Given the description of an element on the screen output the (x, y) to click on. 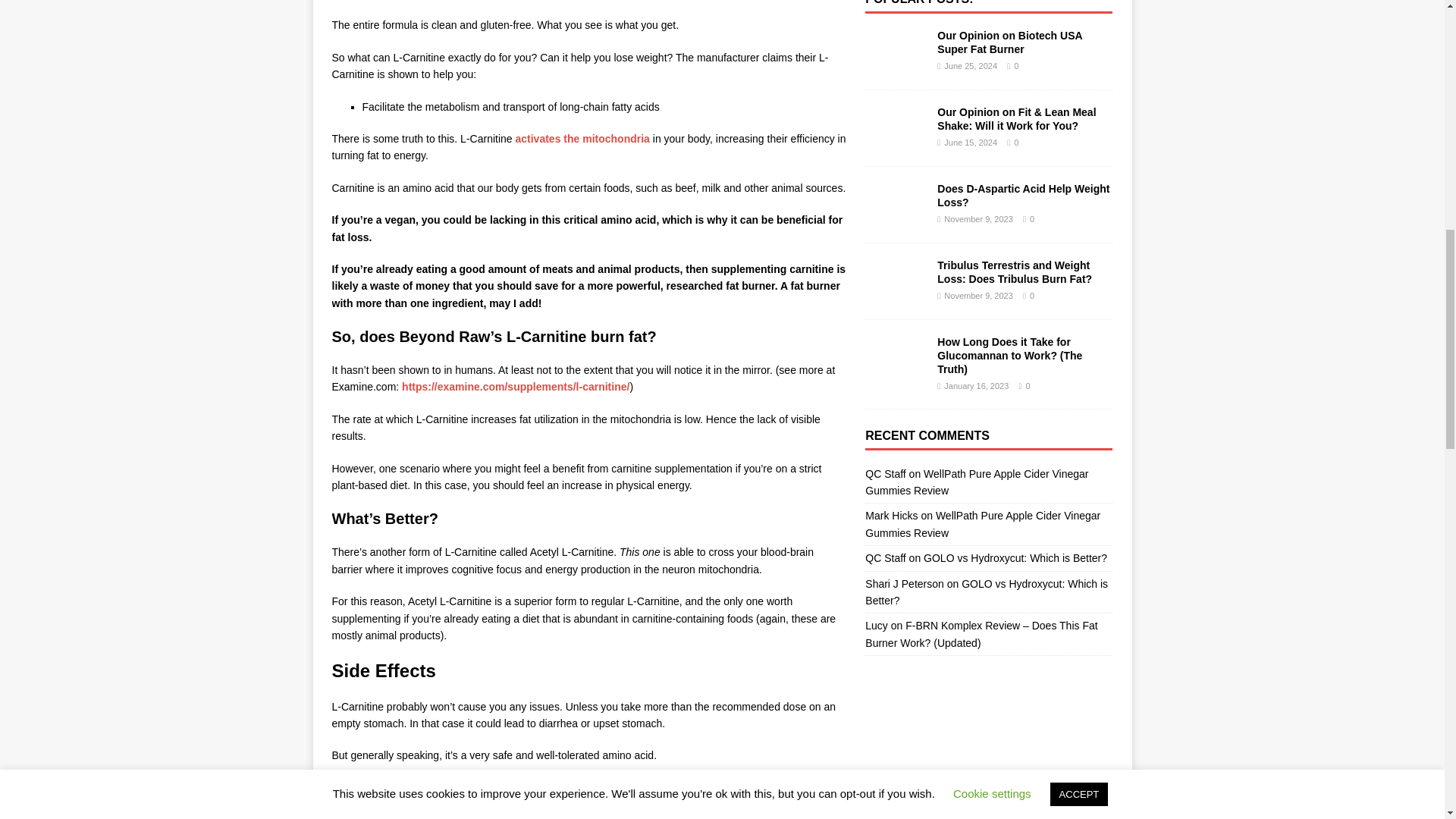
Our Opinion on Biotech USA Super Fat Burner (1009, 42)
Our Opinion on Biotech USA Super Fat Burner (895, 64)
POPULAR POSTS: (918, 2)
activates the mitochondria (582, 138)
Does D-Aspartic Acid Help Weight Loss? (895, 218)
Does D-Aspartic Acid Help Weight Loss? (1023, 195)
Tribulus Terrestris and Weight Loss: Does Tribulus Burn Fat? (895, 295)
Tribulus Terrestris and Weight Loss: Does Tribulus Burn Fat? (1014, 272)
Our Opinion on Biotech USA Super Fat Burner (1009, 42)
